Given the description of an element on the screen output the (x, y) to click on. 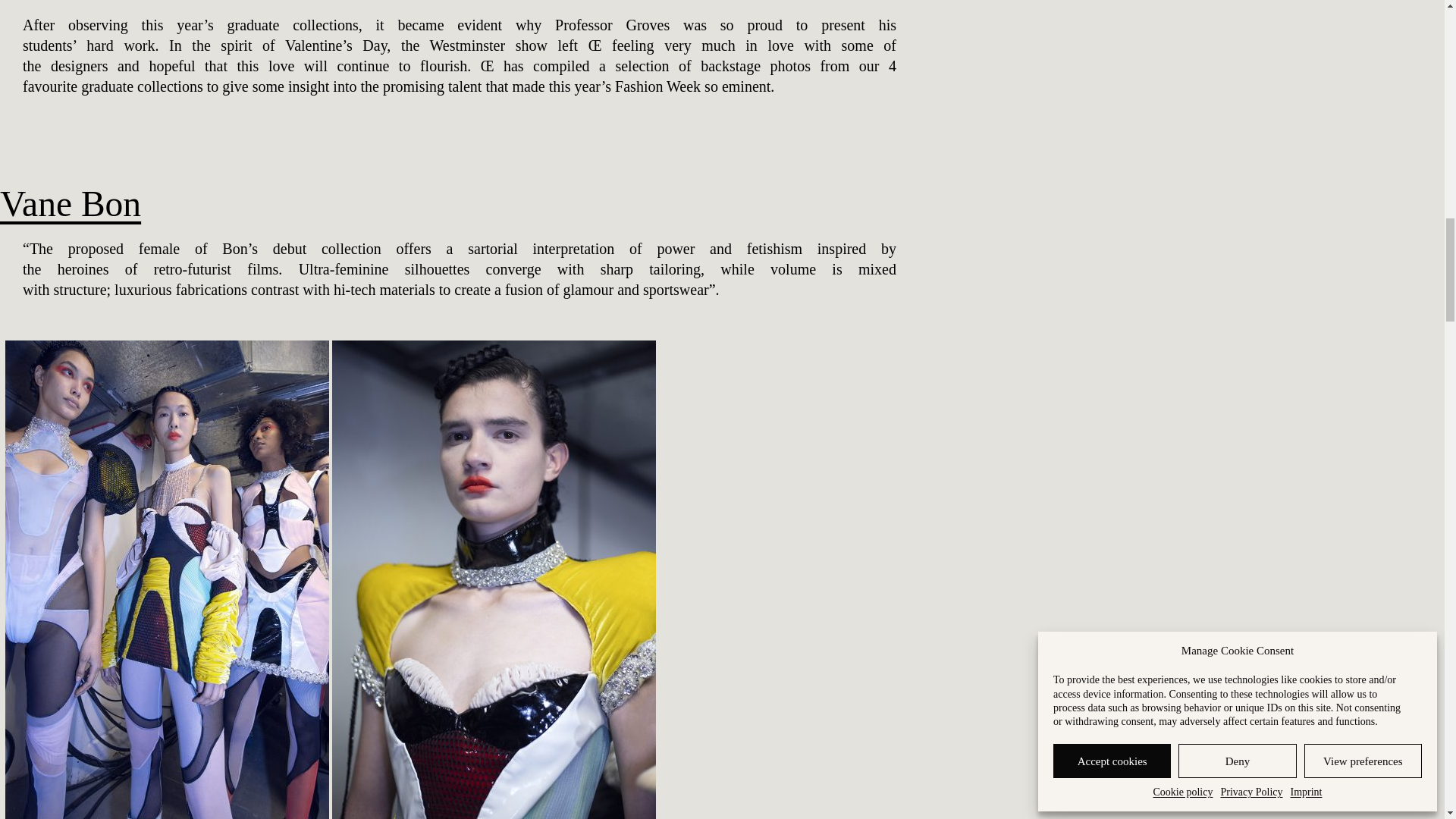
Vane Bon (70, 203)
